Given the description of an element on the screen output the (x, y) to click on. 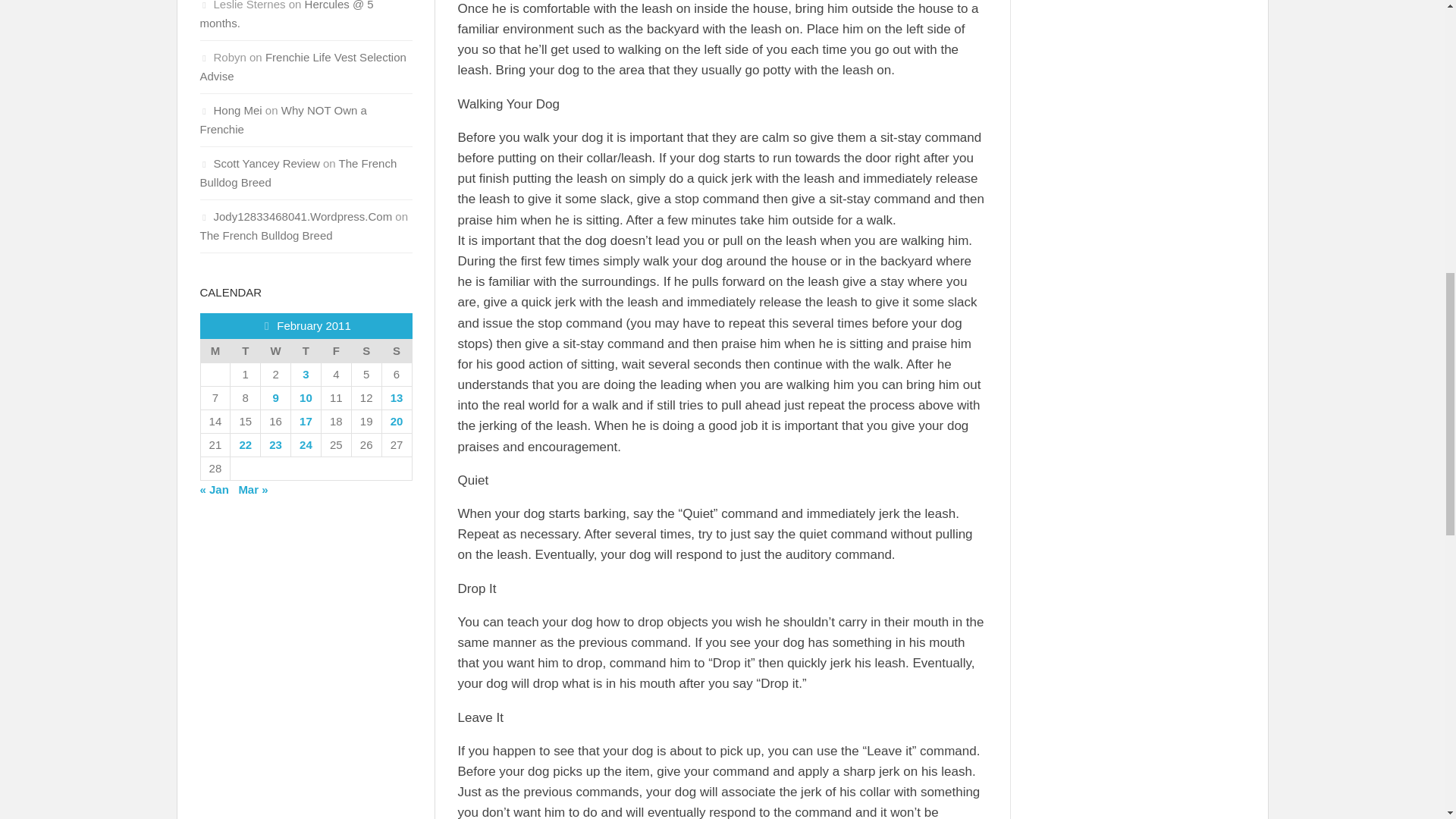
Sunday (396, 351)
Monday (215, 351)
Thursday (306, 351)
Saturday (365, 351)
Tuesday (245, 351)
Wednesday (275, 351)
Friday (335, 351)
